Given the description of an element on the screen output the (x, y) to click on. 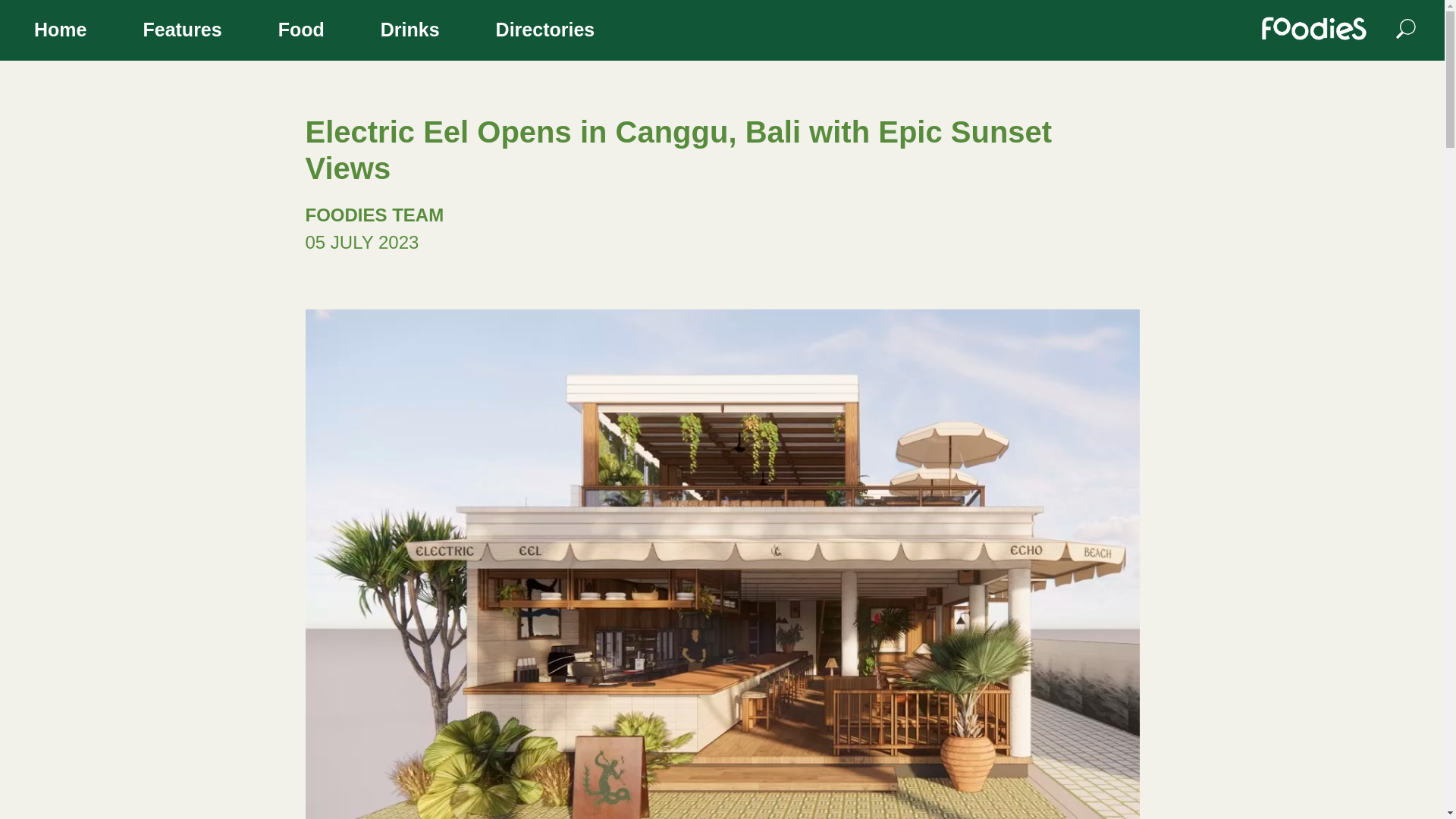
Food (301, 31)
Home (60, 31)
Features (181, 31)
Drinks (410, 31)
Directories (545, 31)
